Given the description of an element on the screen output the (x, y) to click on. 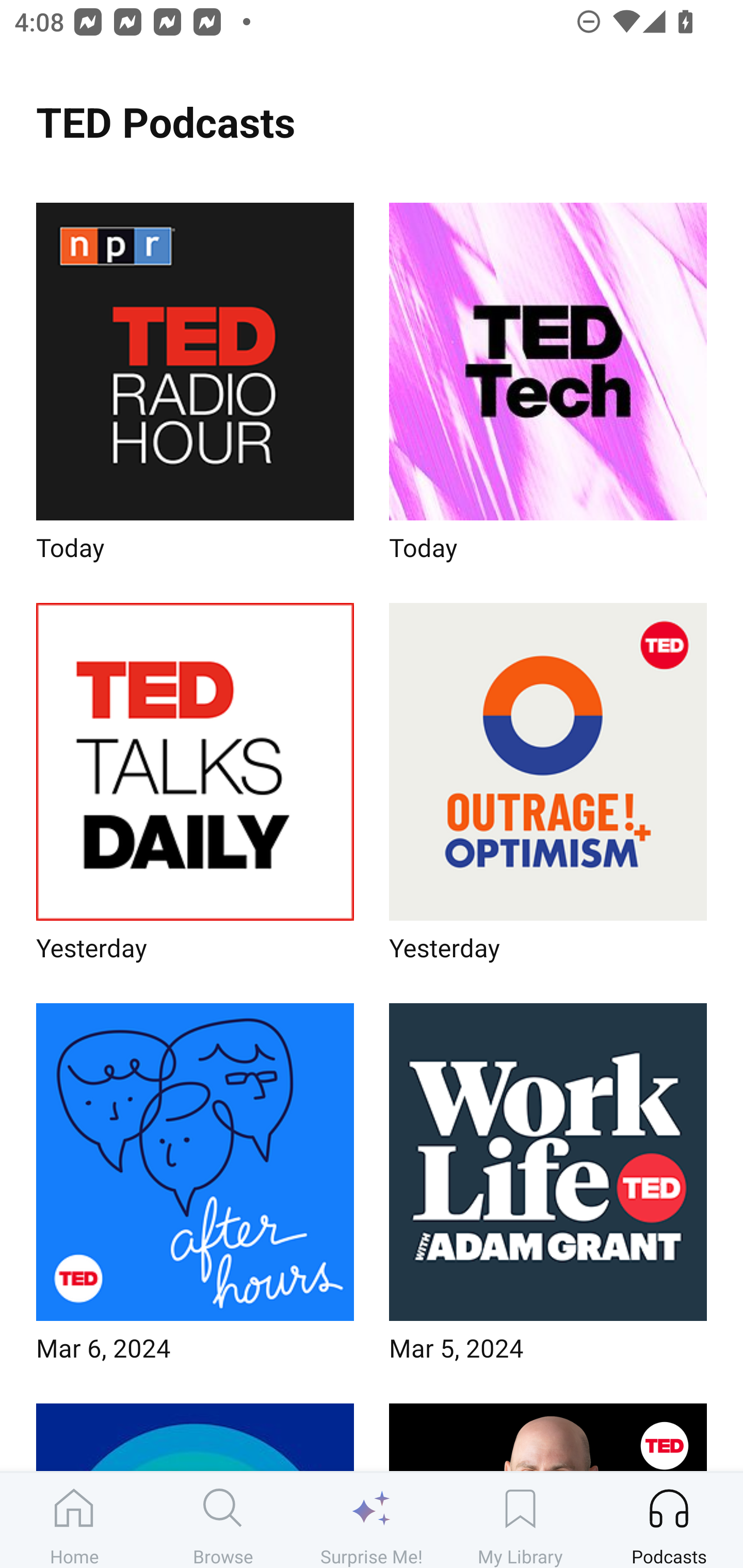
Today (194, 387)
Today (547, 387)
Yesterday (194, 788)
Yesterday (547, 788)
Mar 6, 2024 (194, 1189)
Mar 5, 2024 (547, 1189)
Home (74, 1520)
Browse (222, 1520)
Surprise Me! (371, 1520)
My Library (519, 1520)
Podcasts (668, 1520)
